Given the description of an element on the screen output the (x, y) to click on. 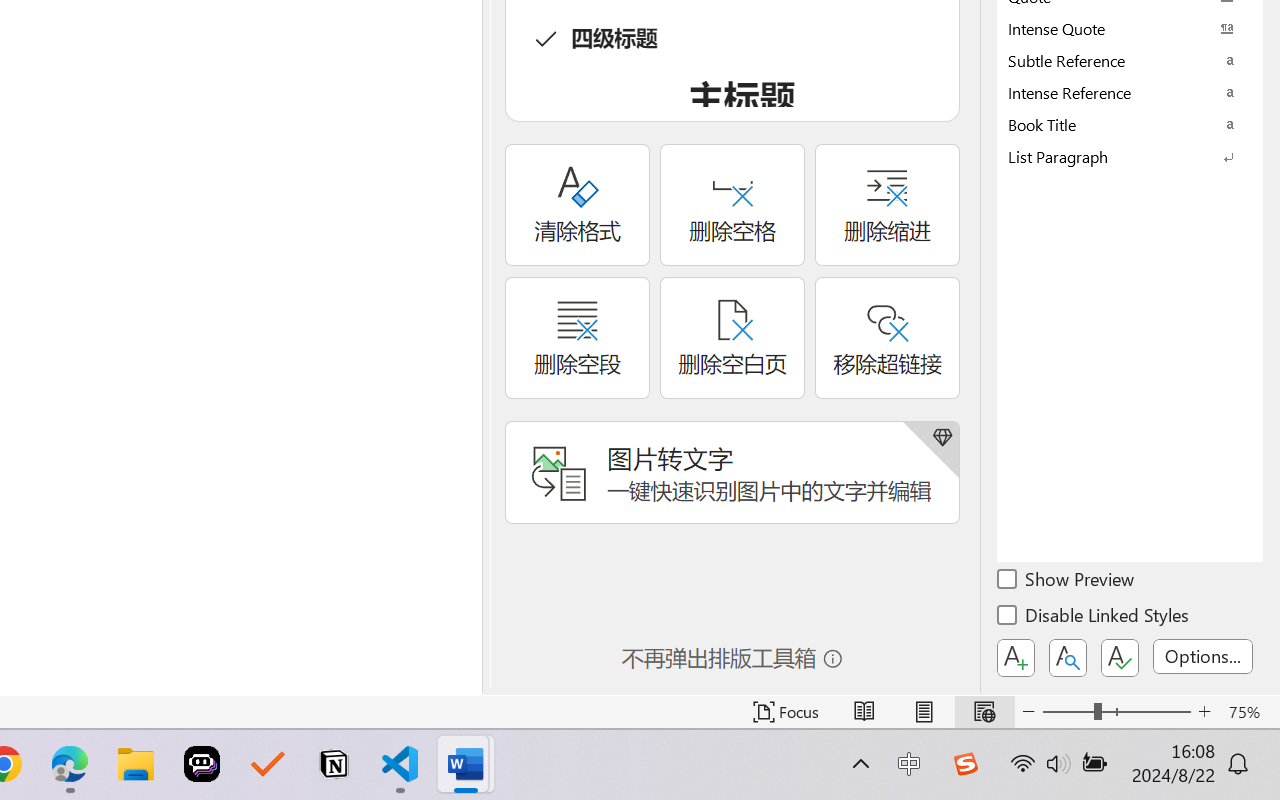
Print Layout (924, 712)
Intense Quote (1130, 28)
Zoom In (1204, 712)
Class: Image (965, 764)
Intense Reference (1130, 92)
Subtle Reference (1130, 60)
